Given the description of an element on the screen output the (x, y) to click on. 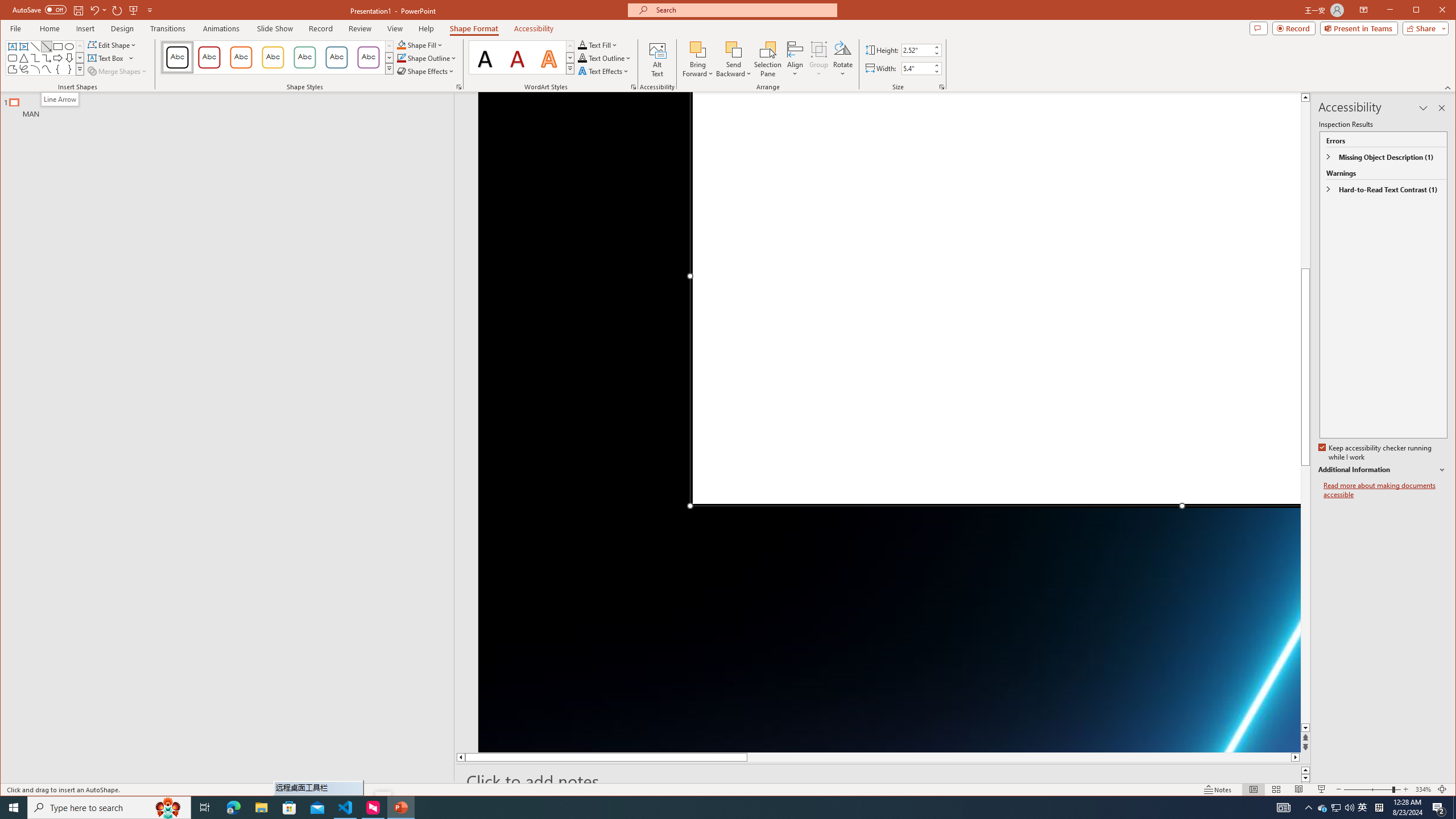
AutomationID: TextStylesGallery (521, 57)
Text Effects (603, 70)
